Given the description of an element on the screen output the (x, y) to click on. 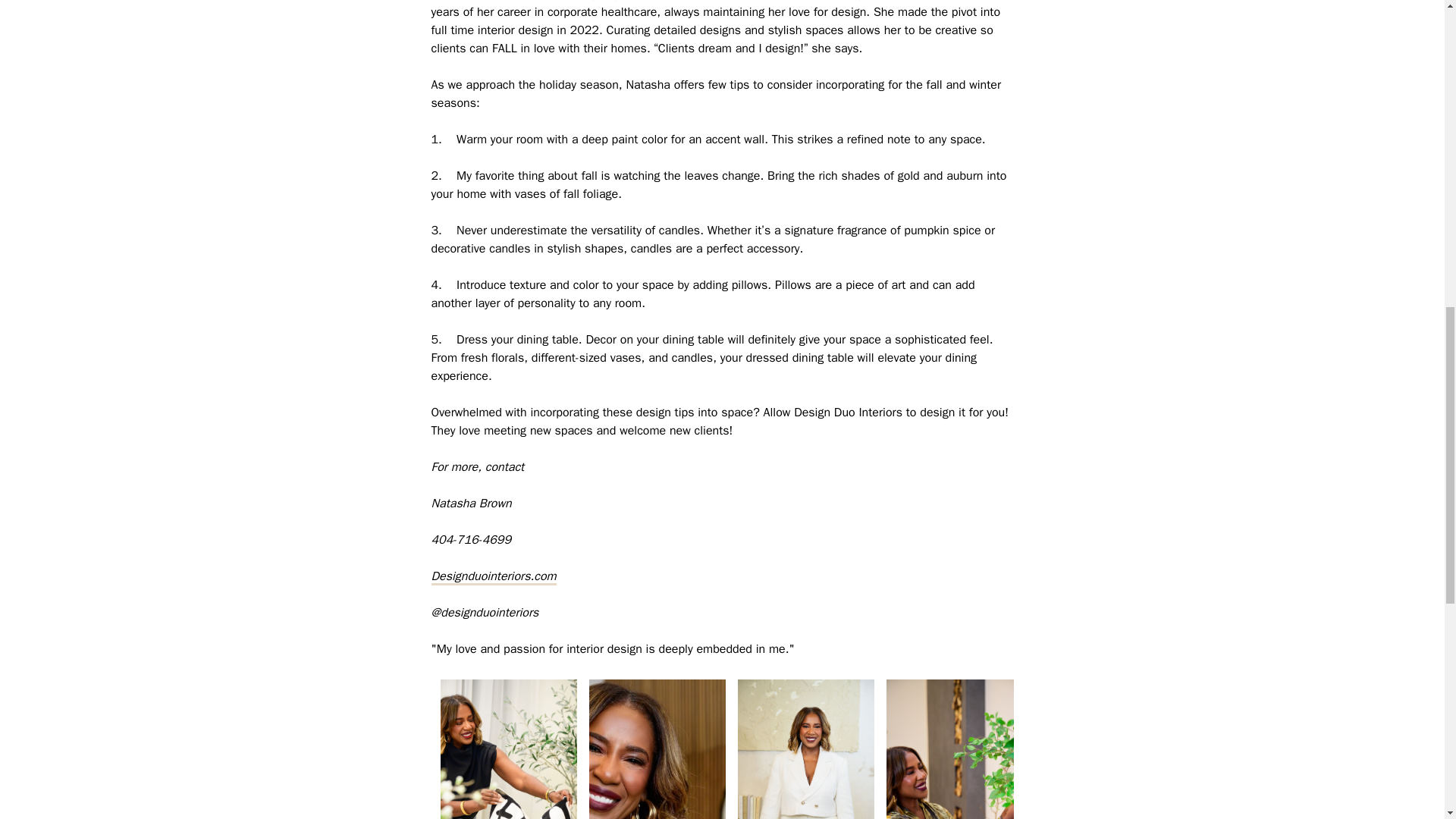
Designduointeriors.com (493, 576)
